Given the description of an element on the screen output the (x, y) to click on. 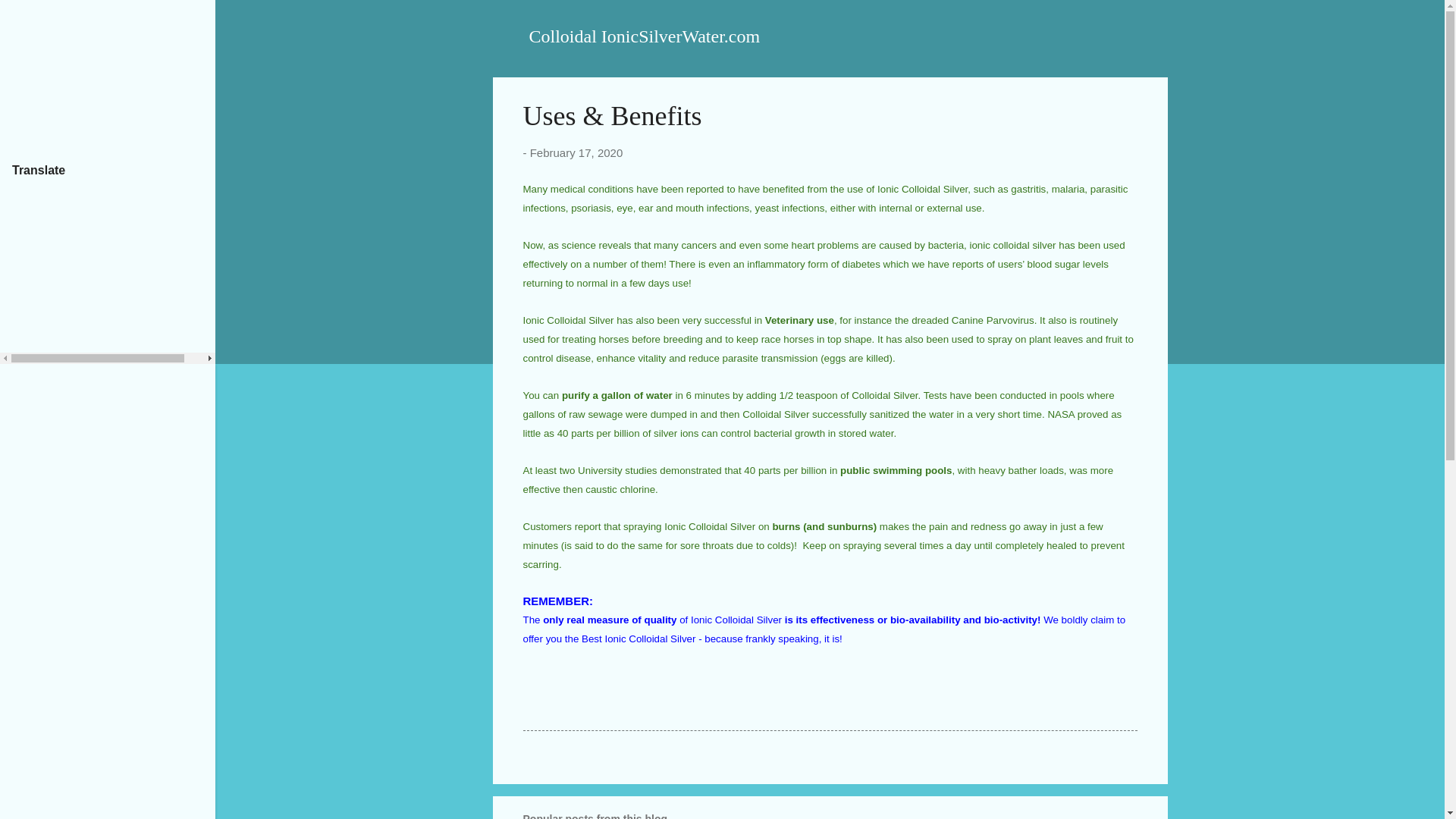
permanent link (576, 152)
February 17, 2020 (576, 152)
Colloidal IonicSilverWater.com (644, 35)
Search (29, 18)
